Given the description of an element on the screen output the (x, y) to click on. 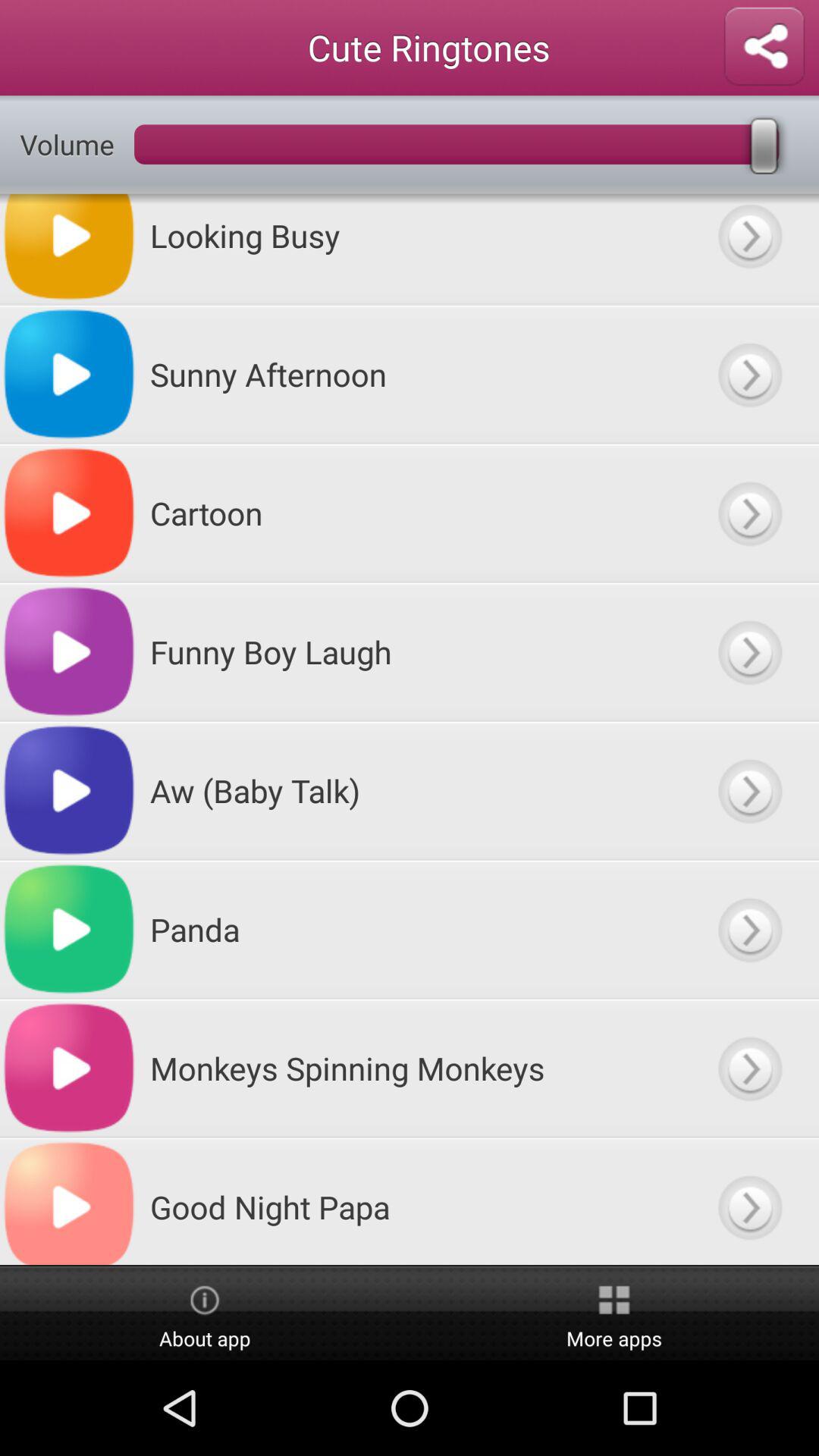
go next (749, 374)
